Given the description of an element on the screen output the (x, y) to click on. 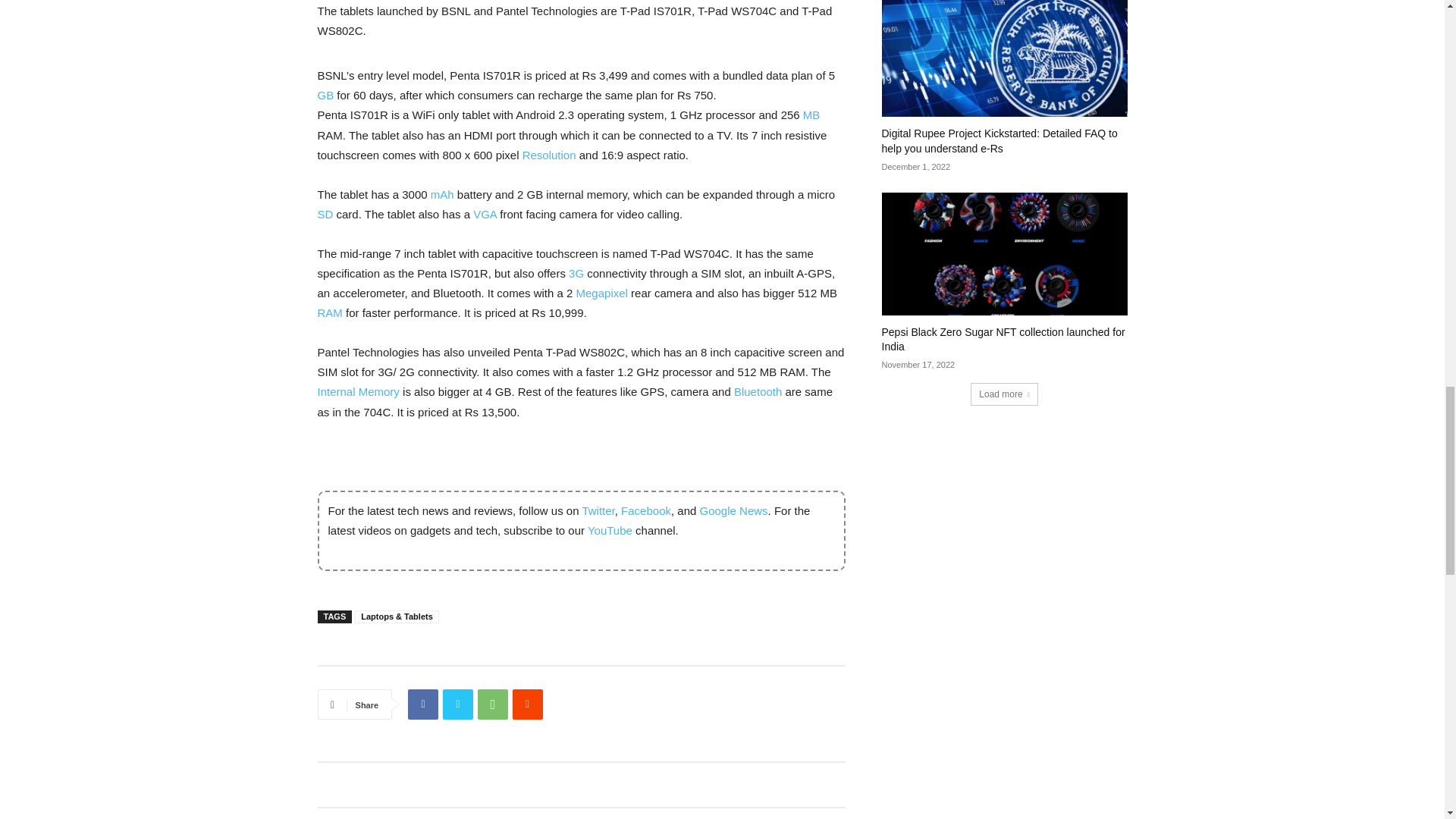
Twitter (457, 704)
MB (812, 114)
Facebook (422, 704)
mAh (442, 194)
SD (325, 214)
WhatsApp (492, 704)
GB (325, 94)
Resolution (549, 154)
ReddIt (527, 704)
